Given the description of an element on the screen output the (x, y) to click on. 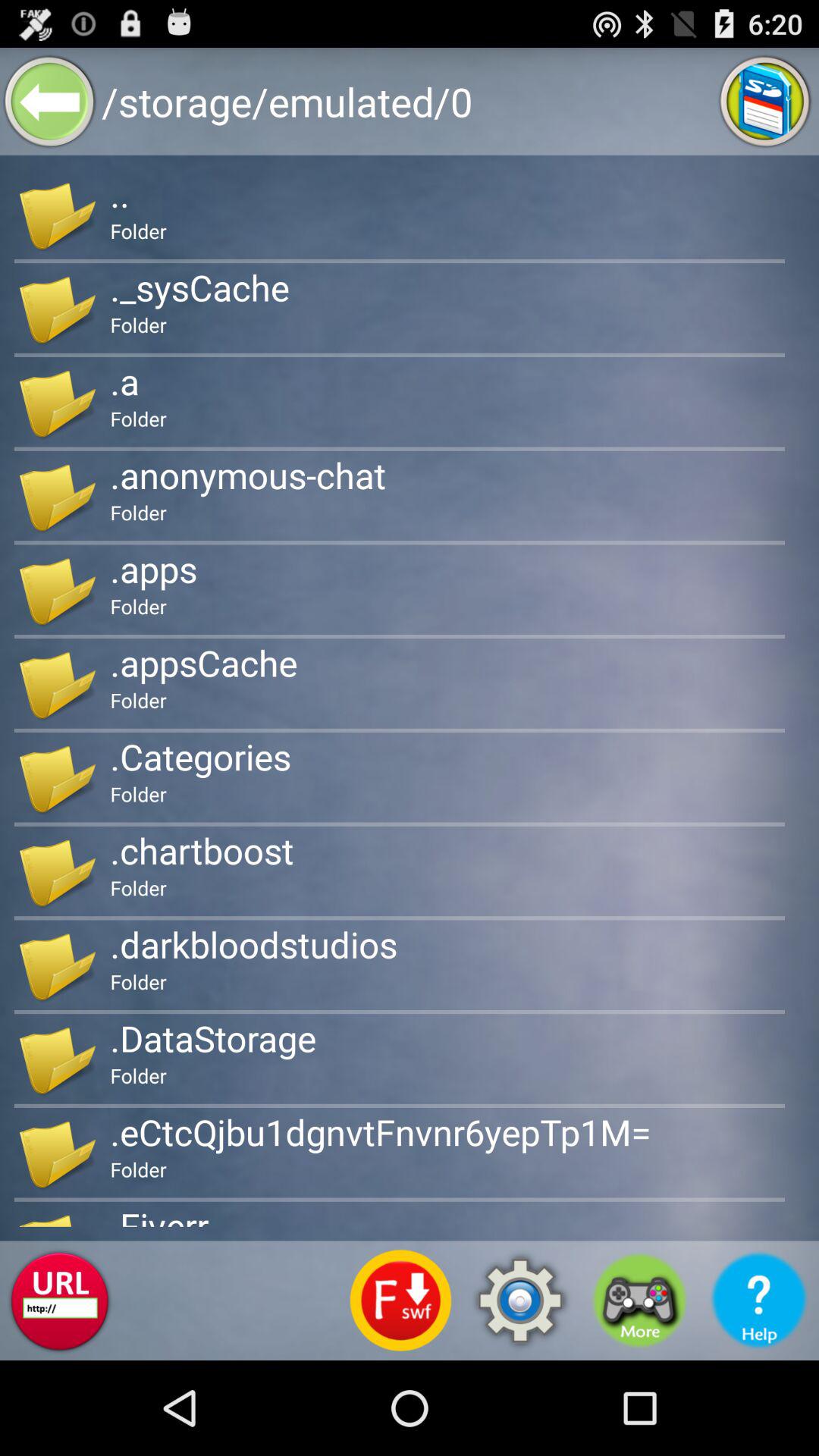
go back (49, 101)
